Given the description of an element on the screen output the (x, y) to click on. 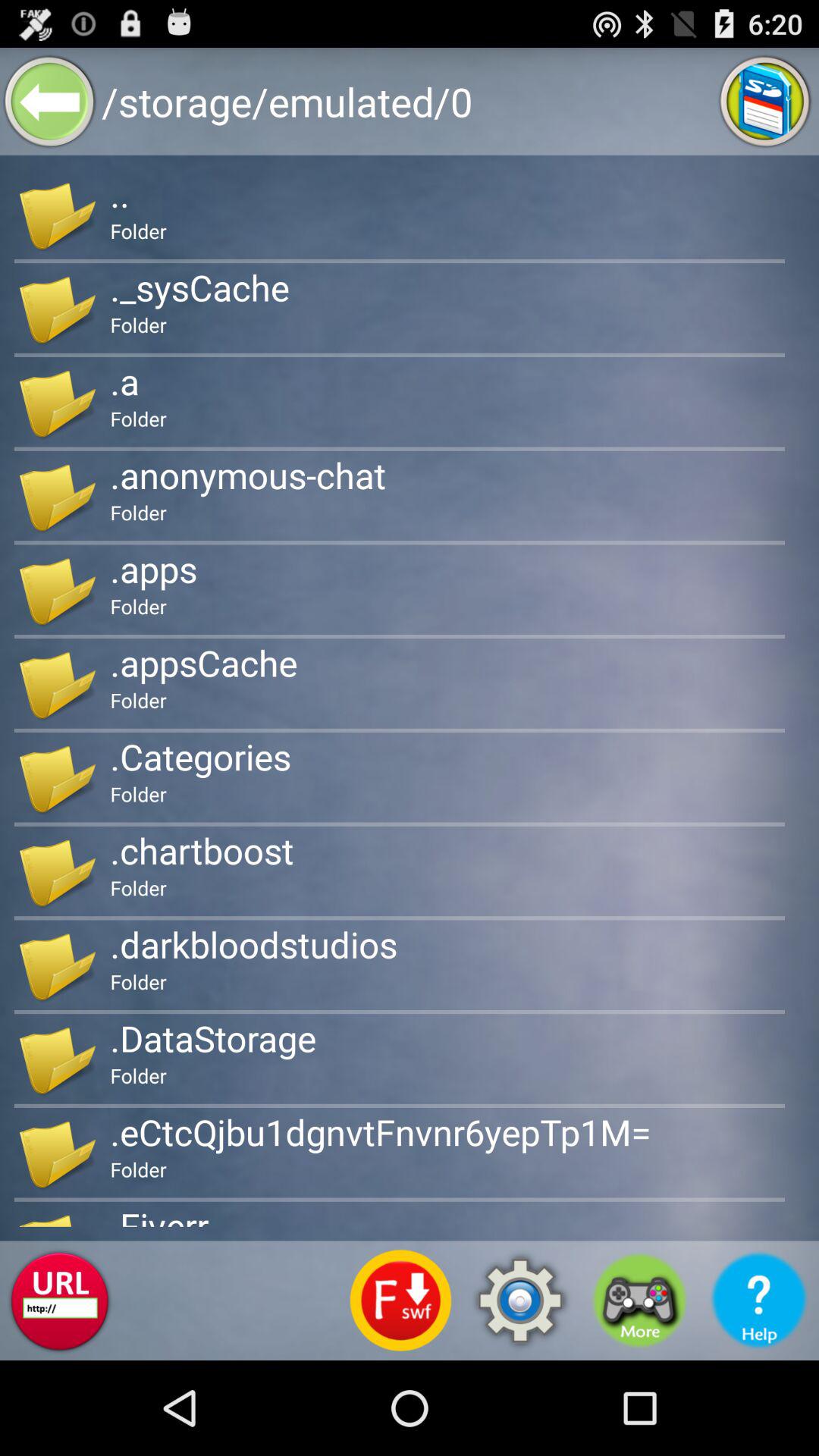
go back (49, 101)
